Given the description of an element on the screen output the (x, y) to click on. 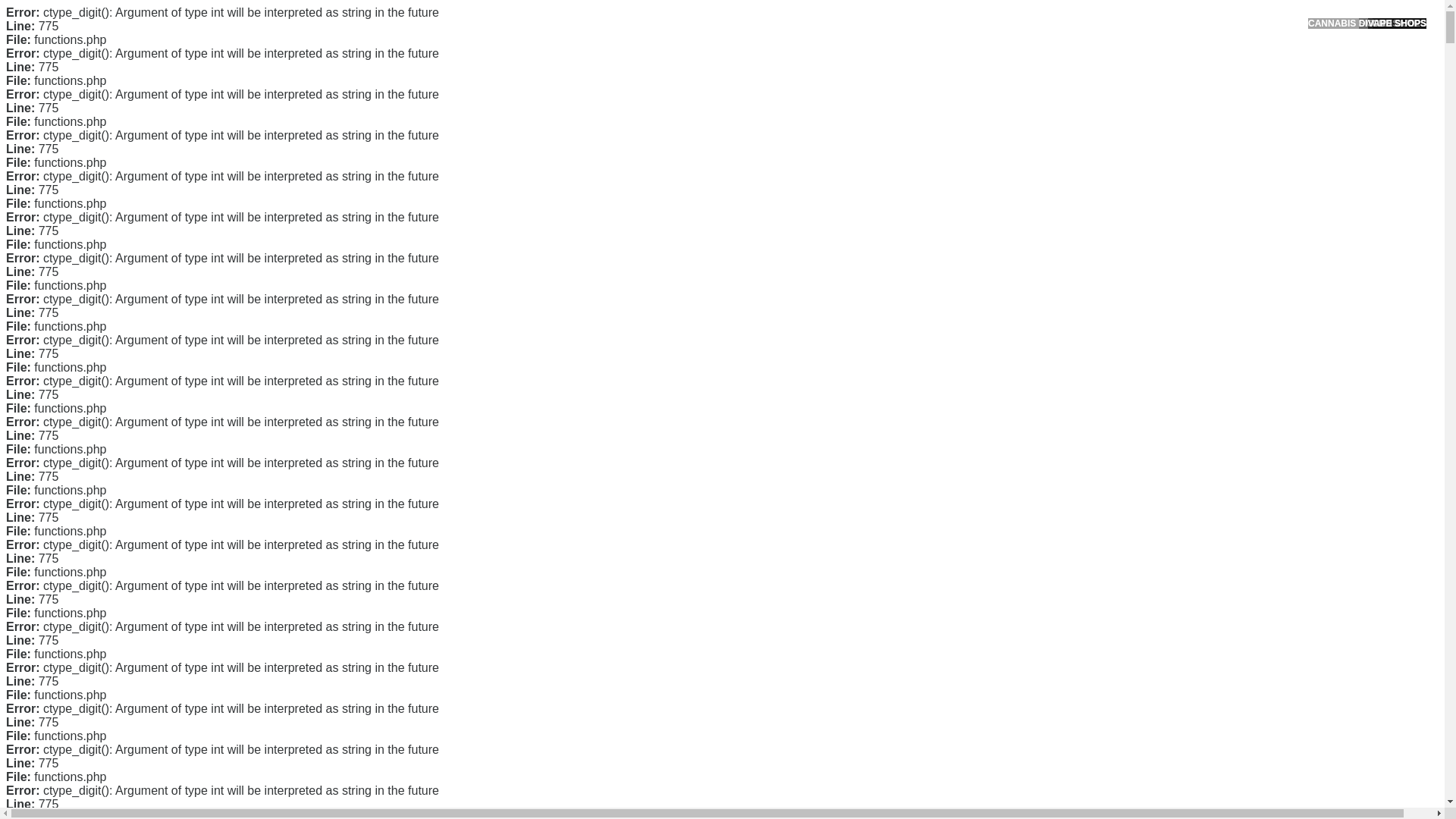
Disclaimer (990, 354)
Contact Us (991, 258)
Latest Article (996, 172)
imp source (726, 517)
Search (1050, 85)
ADMINISTRATOR (417, 81)
Log in (980, 588)
BLUEFOOTBEAR.CO.UK (417, 28)
Terms of Use (996, 330)
Skip to content (34, 9)
Search for: (1049, 47)
Search (1050, 85)
go Here (513, 422)
Search (1050, 85)
August 2020 (996, 432)
